Given the description of an element on the screen output the (x, y) to click on. 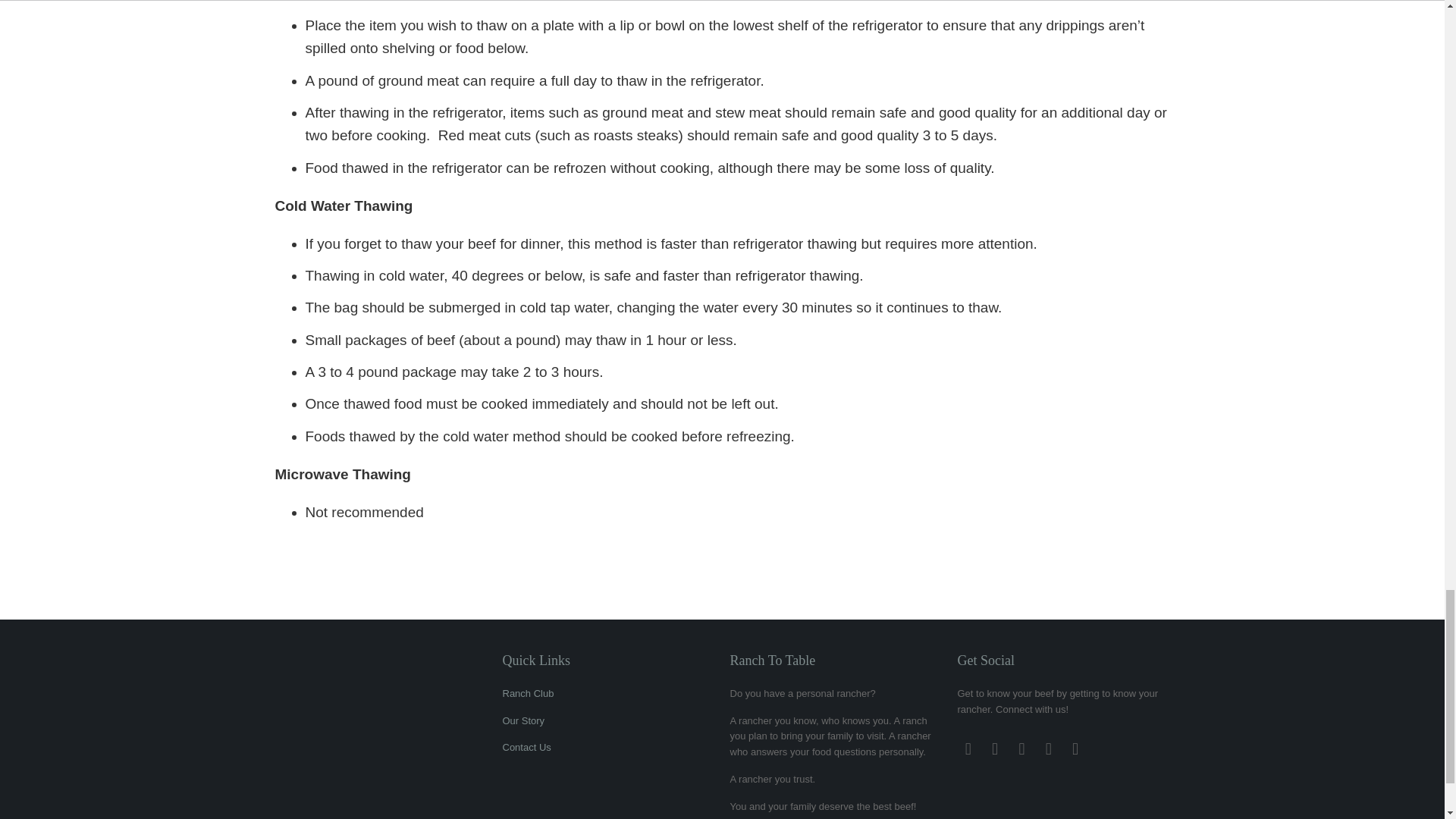
Felton Angus Beef on Pinterest (1021, 749)
Email Felton Angus Beef (1075, 749)
Our Story (523, 720)
Felton Angus Beef on Facebook (967, 749)
Felton Angus Beef on YouTube (995, 749)
Ranch Club (527, 693)
Felton Angus Beef on Instagram (1047, 749)
